Given the description of an element on the screen output the (x, y) to click on. 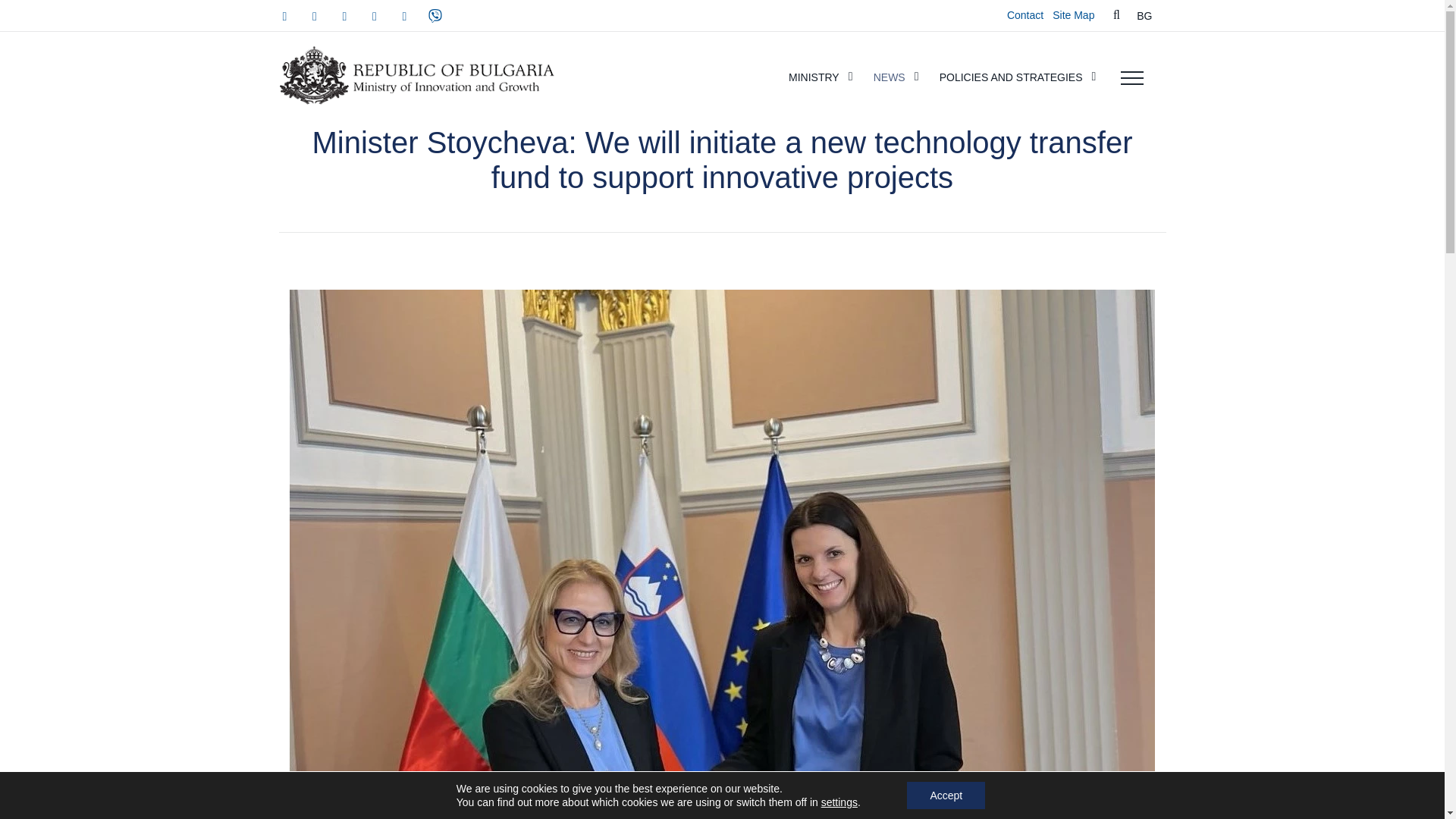
Contact (1025, 15)
Site Map (1073, 15)
MINISTRY (823, 77)
NEWS (898, 77)
POLICIES AND STRATEGIES (1020, 77)
BG (1143, 15)
